Given the description of an element on the screen output the (x, y) to click on. 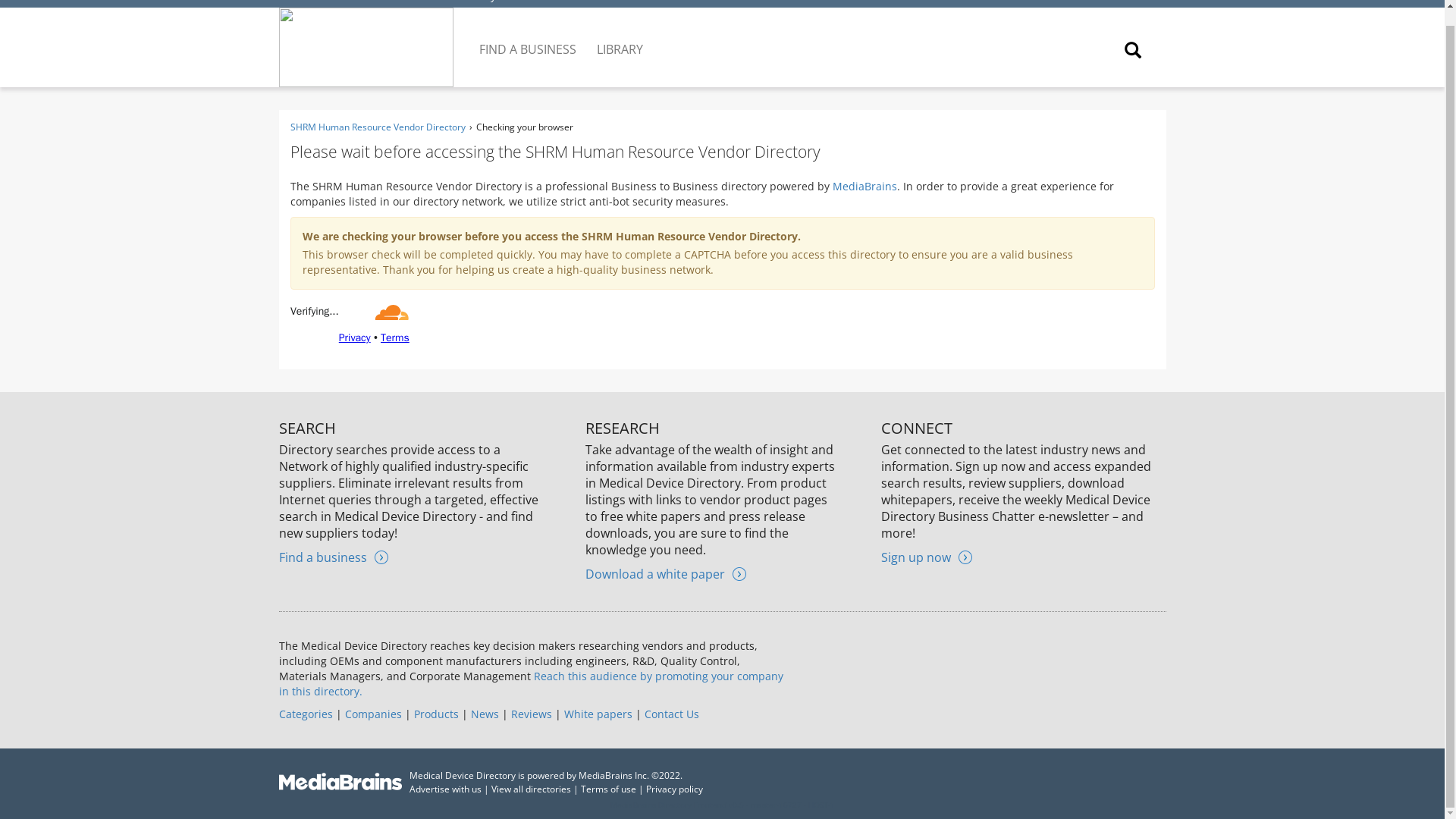
SHRM Human Resource Vendor Directory (391, 1)
SHRM Human Resource Vendor Directory (376, 126)
Terms of use (608, 788)
News (483, 713)
Privacy policy (674, 788)
View all directories (531, 788)
Download a white paper (665, 573)
Sign up now (926, 556)
Contact Us (671, 713)
FIND A BUSINESS (528, 37)
LIBRARY (620, 37)
Advertise with us (445, 788)
Companies (372, 713)
Find a business (333, 556)
